Given the description of an element on the screen output the (x, y) to click on. 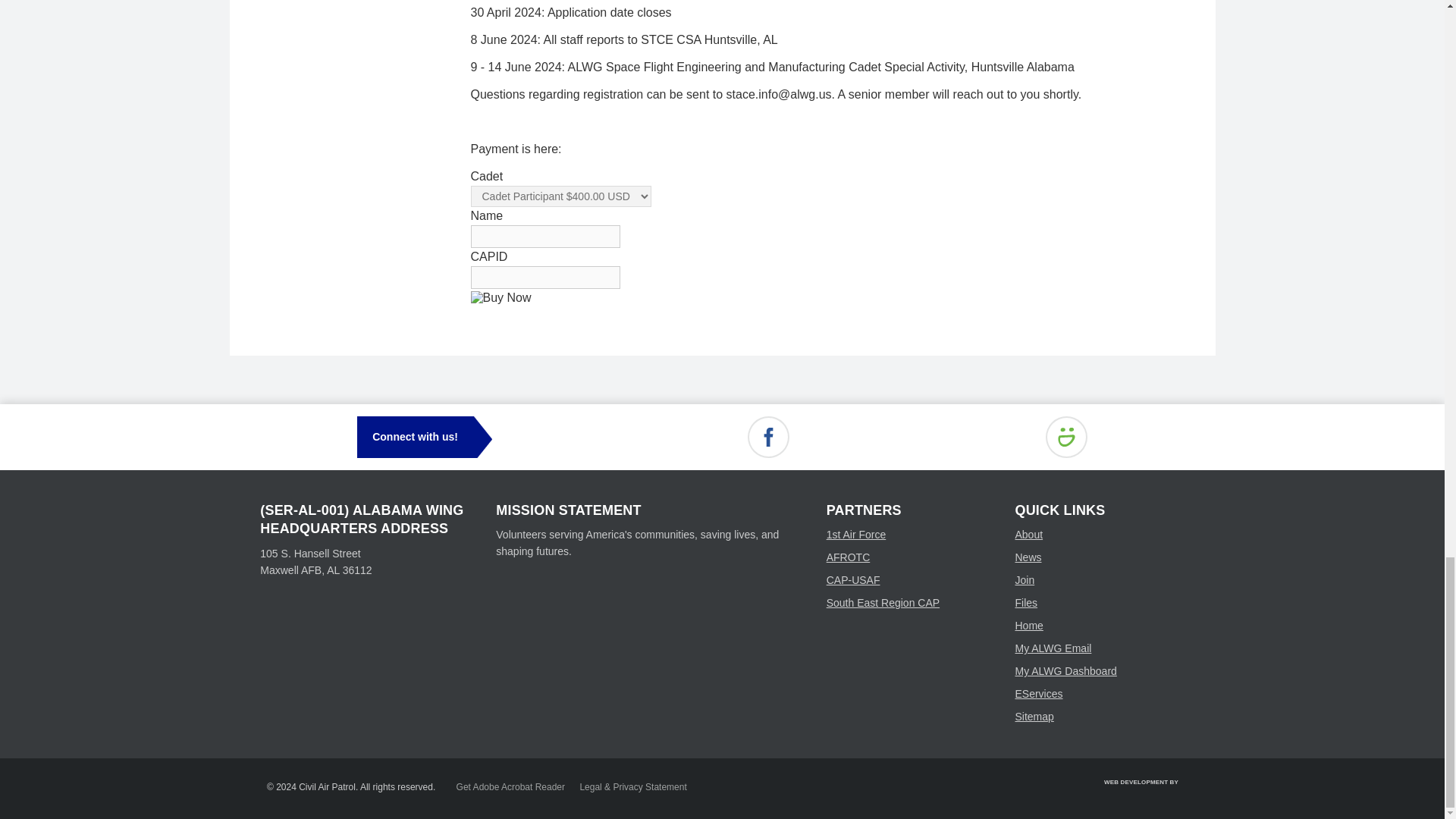
PayPal - The safer, easier way to pay online! (500, 297)
